Given the description of an element on the screen output the (x, y) to click on. 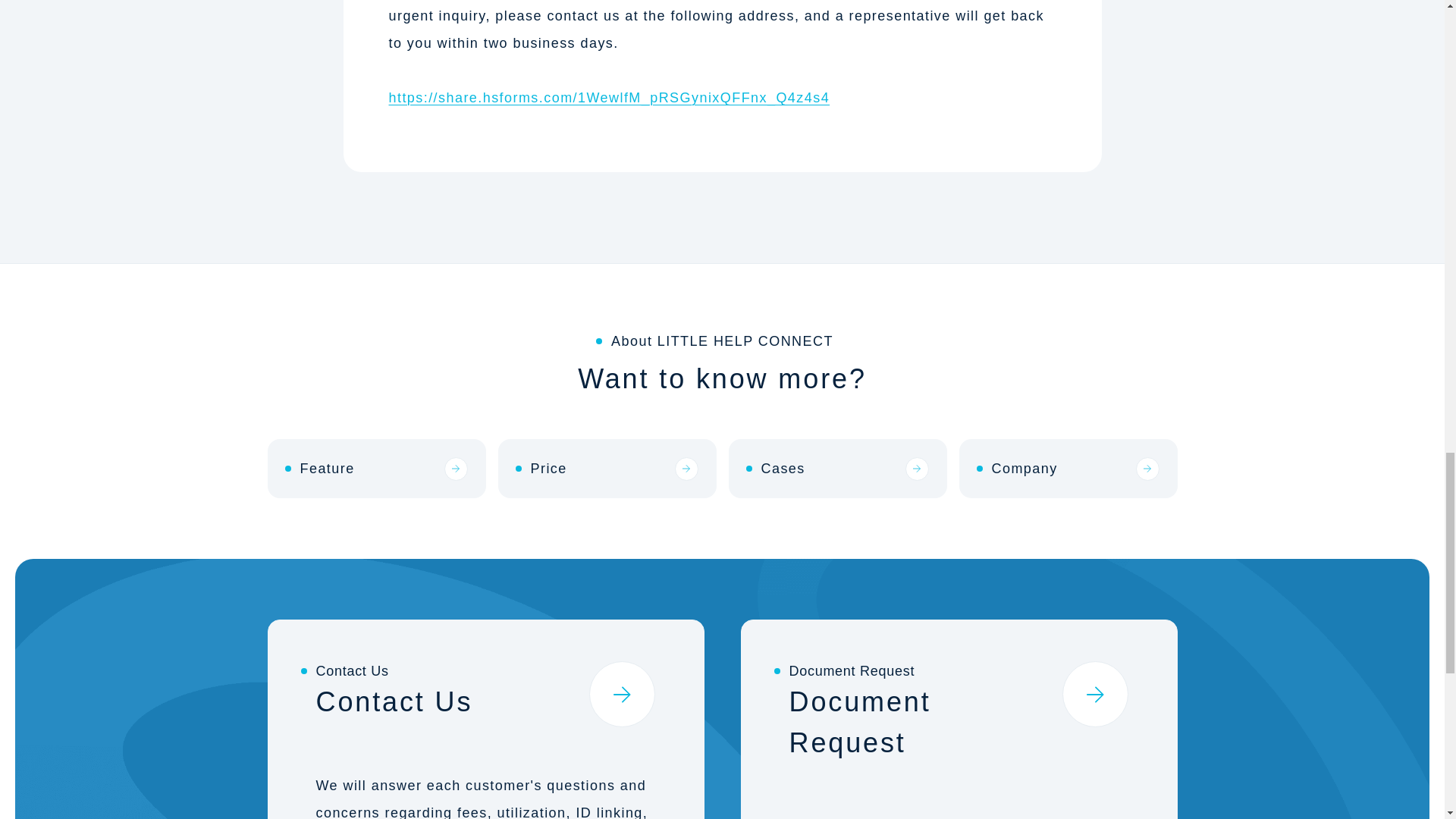
Feature (375, 467)
Company (1067, 467)
Cases (837, 467)
Price (606, 467)
